Given the description of an element on the screen output the (x, y) to click on. 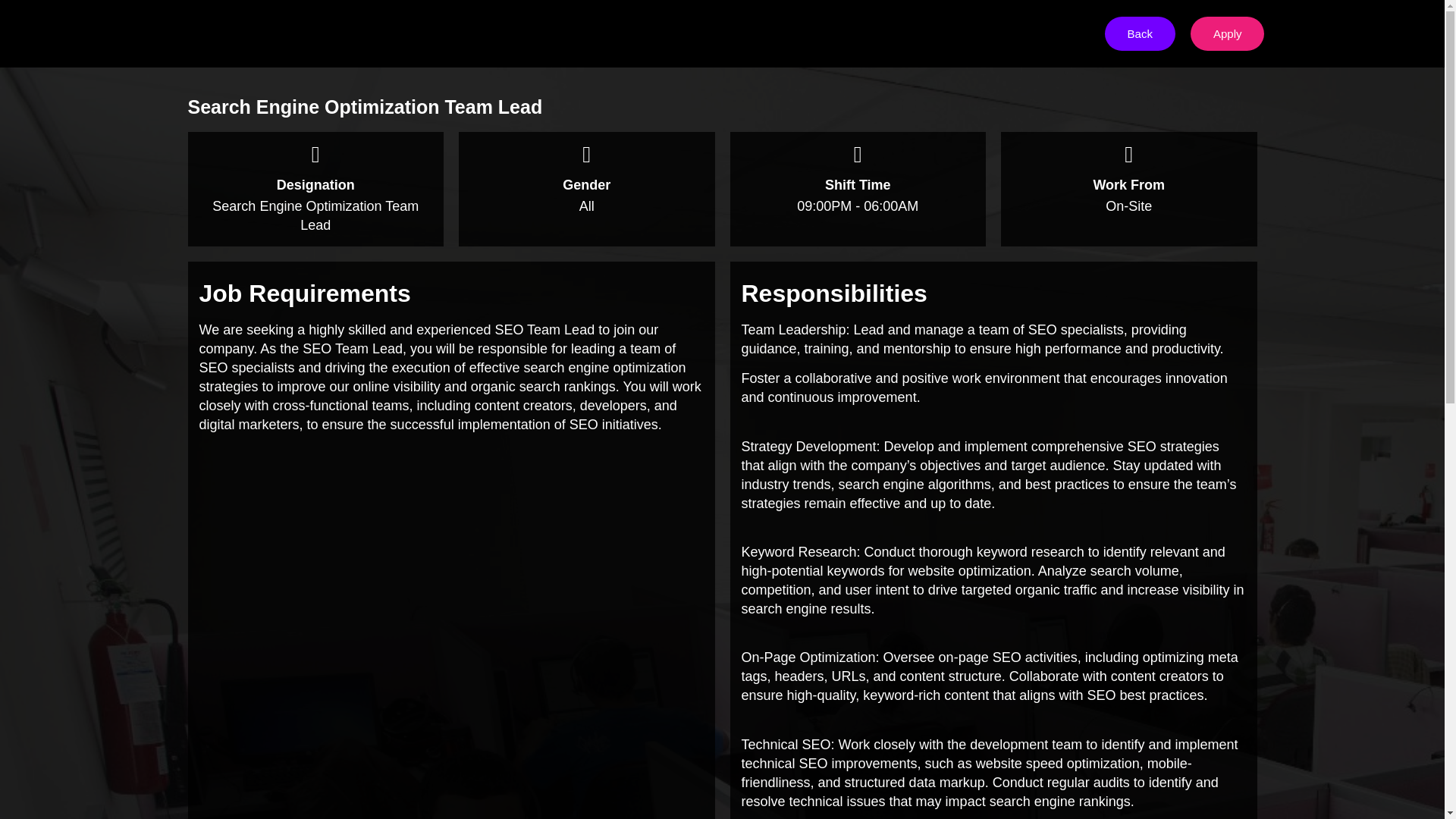
Apply (1228, 33)
Back (1139, 33)
